Given the description of an element on the screen output the (x, y) to click on. 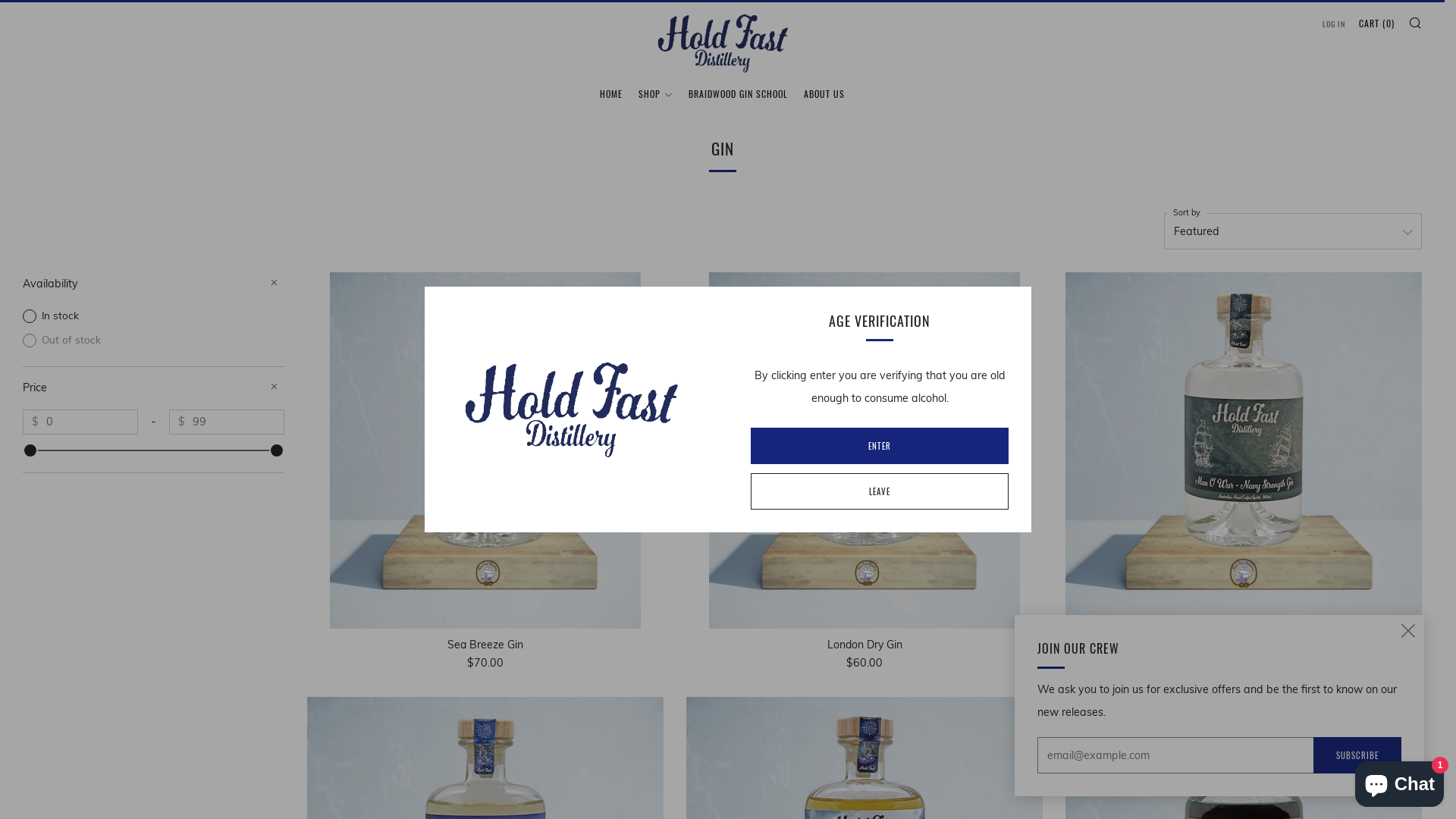
London Dry Gin Element type: hover (864, 450)
Sea Breeze Gin Element type: hover (485, 450)
ENTER Element type: text (879, 445)
BRAIDWOOD GIN SCHOOL Element type: text (737, 93)
LEAVE Element type: text (879, 491)
LOG IN Element type: text (1333, 24)
ABOUT US Element type: text (823, 93)
London Dry Gin Element type: text (864, 644)
Shopify online store chat Element type: hover (1399, 780)
Price Element type: text (153, 387)
HOME Element type: text (610, 93)
Sea Breeze Gin Element type: text (485, 644)
Availability Element type: text (153, 283)
$75.00 Element type: text (1243, 662)
Man o' War Gin Element type: text (1243, 644)
CART (0) Element type: text (1376, 23)
$70.00 Element type: text (485, 662)
SEARCH Element type: text (1414, 22)
$60.00 Element type: text (864, 662)
Man o' War Gin Element type: hover (1243, 450)
SHOP Element type: text (655, 93)
